Given the description of an element on the screen output the (x, y) to click on. 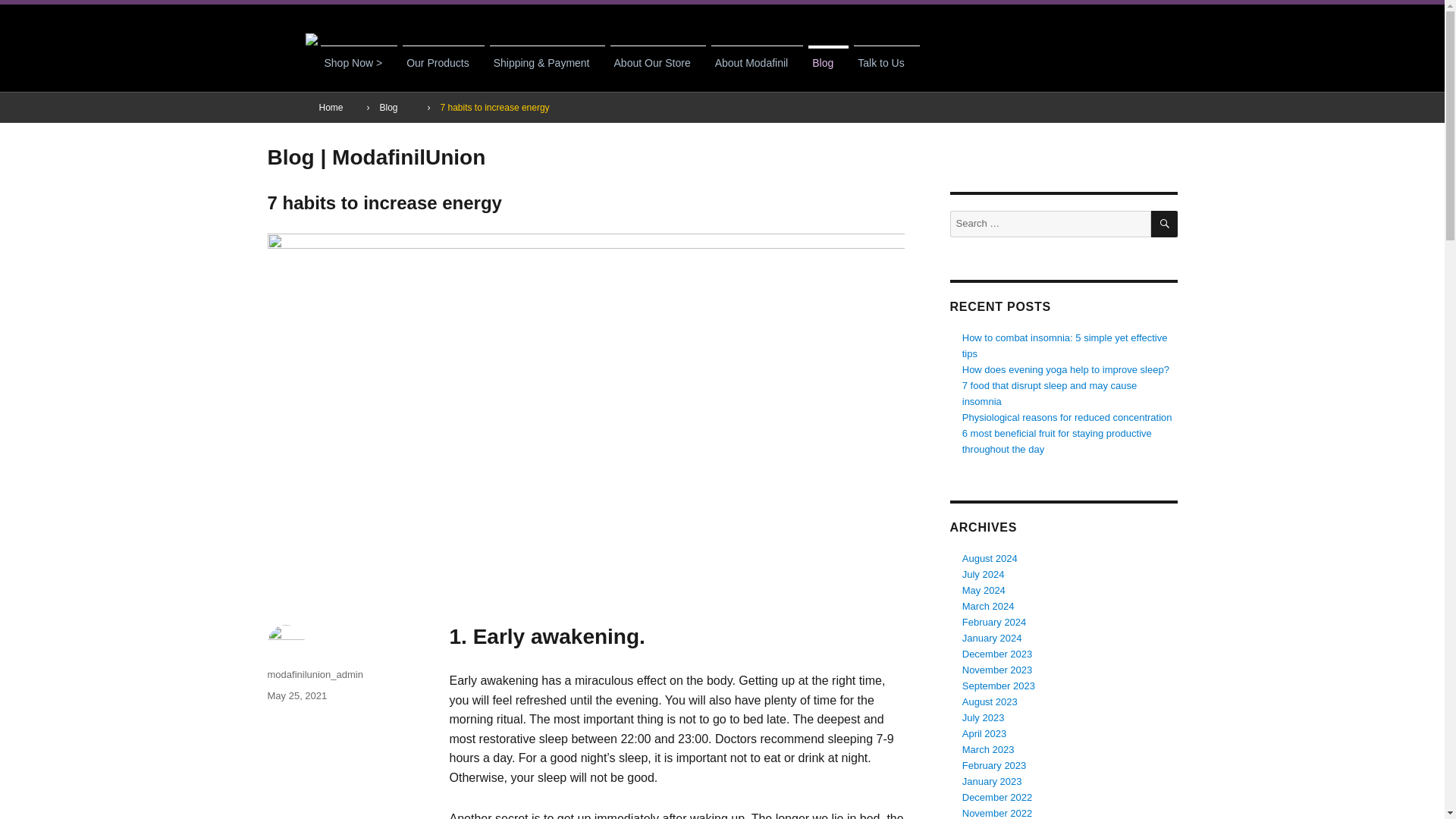
May 2024 (984, 590)
7 food that disrupt sleep and may cause insomnia (1049, 393)
Talk to Us (885, 58)
Blog (387, 107)
About Modafinil (757, 58)
December 2023 (997, 654)
March 2024 (988, 605)
September 2023 (998, 685)
Home (330, 107)
